Given the description of an element on the screen output the (x, y) to click on. 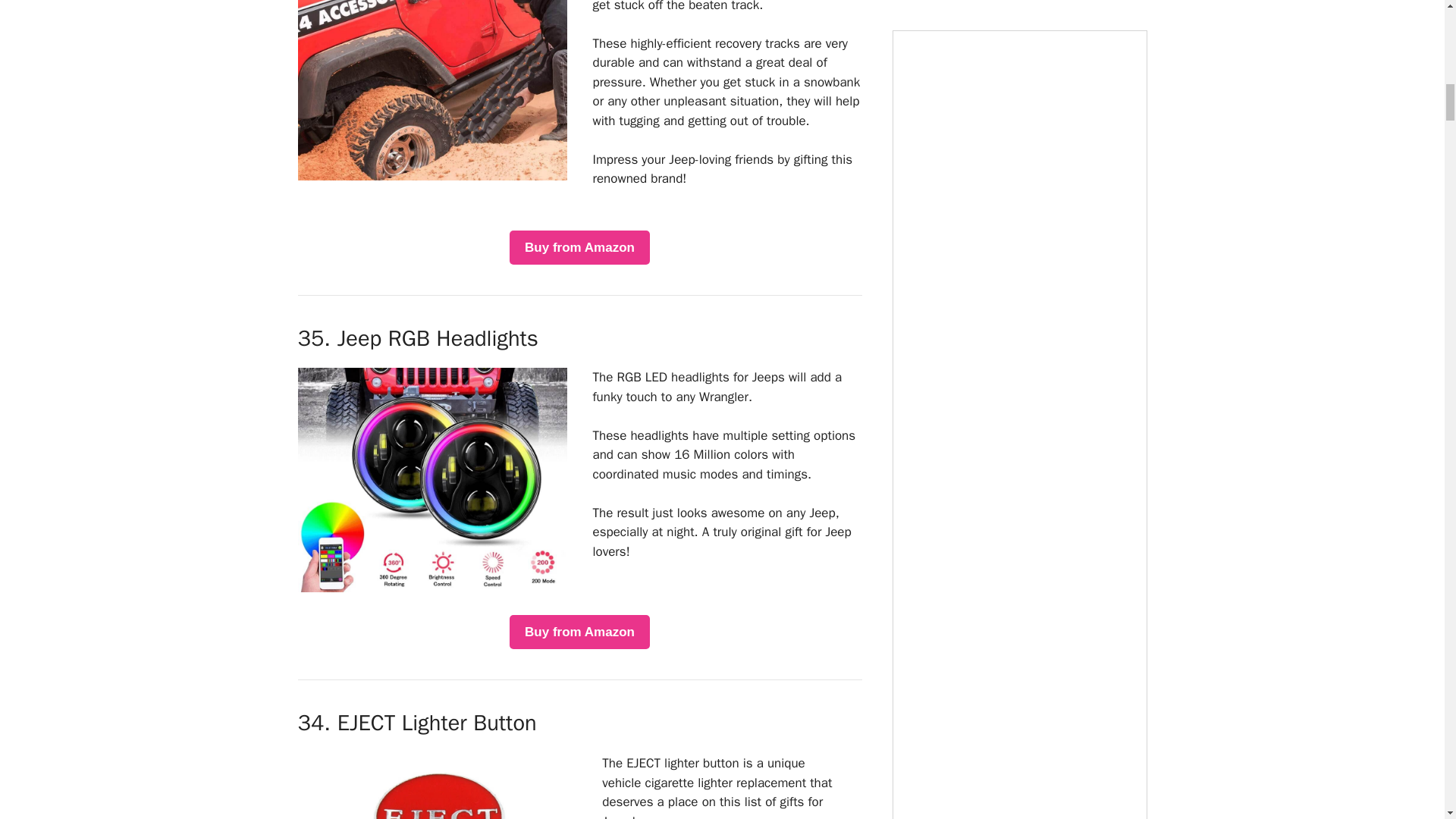
36 Best Gifts For Jeep Lovers 3 (431, 479)
36 Best Gifts For Jeep Lovers 4 (438, 785)
36 Best Gifts For Jeep Lovers 2 (431, 90)
